Given the description of an element on the screen output the (x, y) to click on. 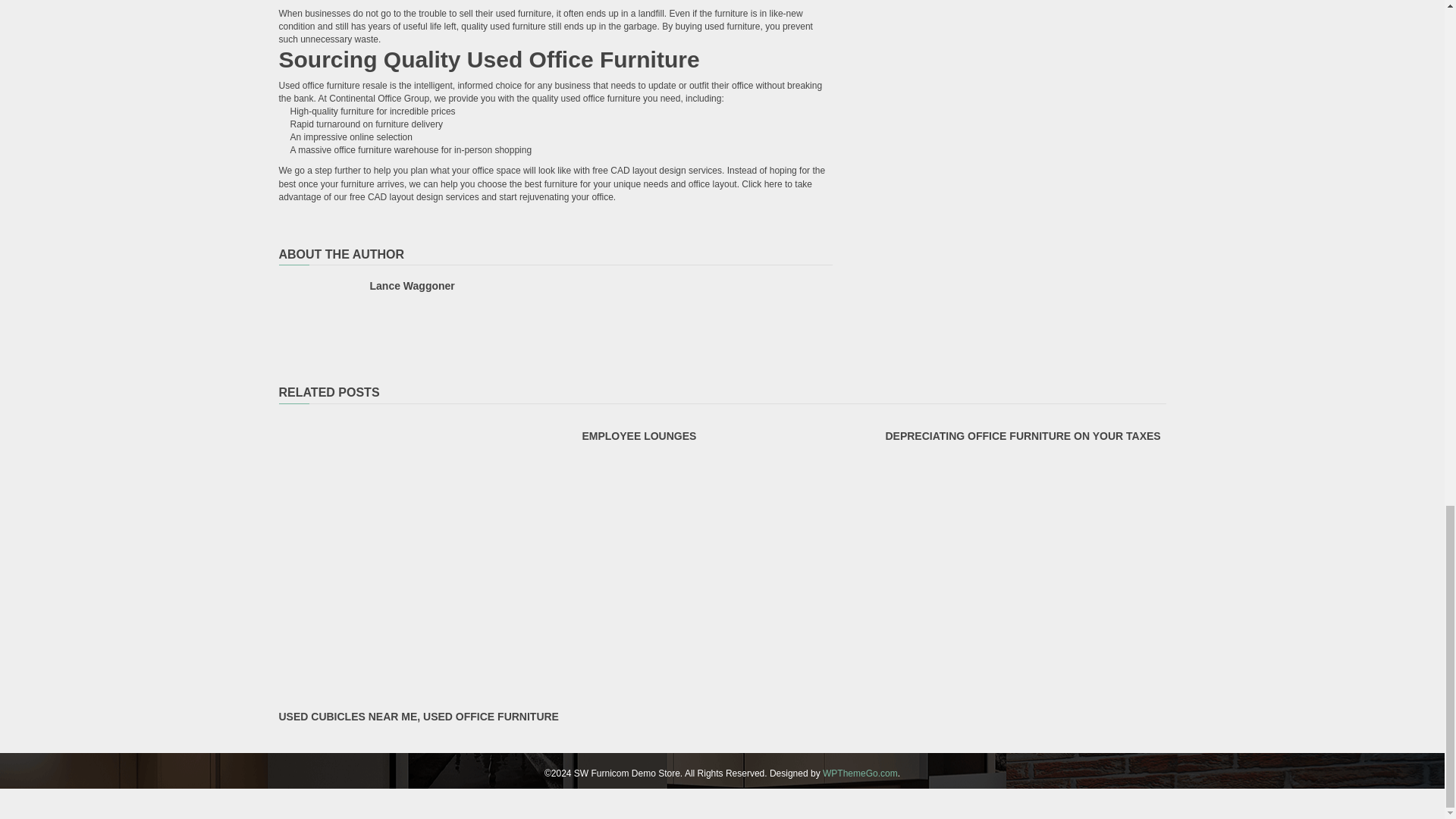
Verified by MonsterInsights (722, 802)
